Given the description of an element on the screen output the (x, y) to click on. 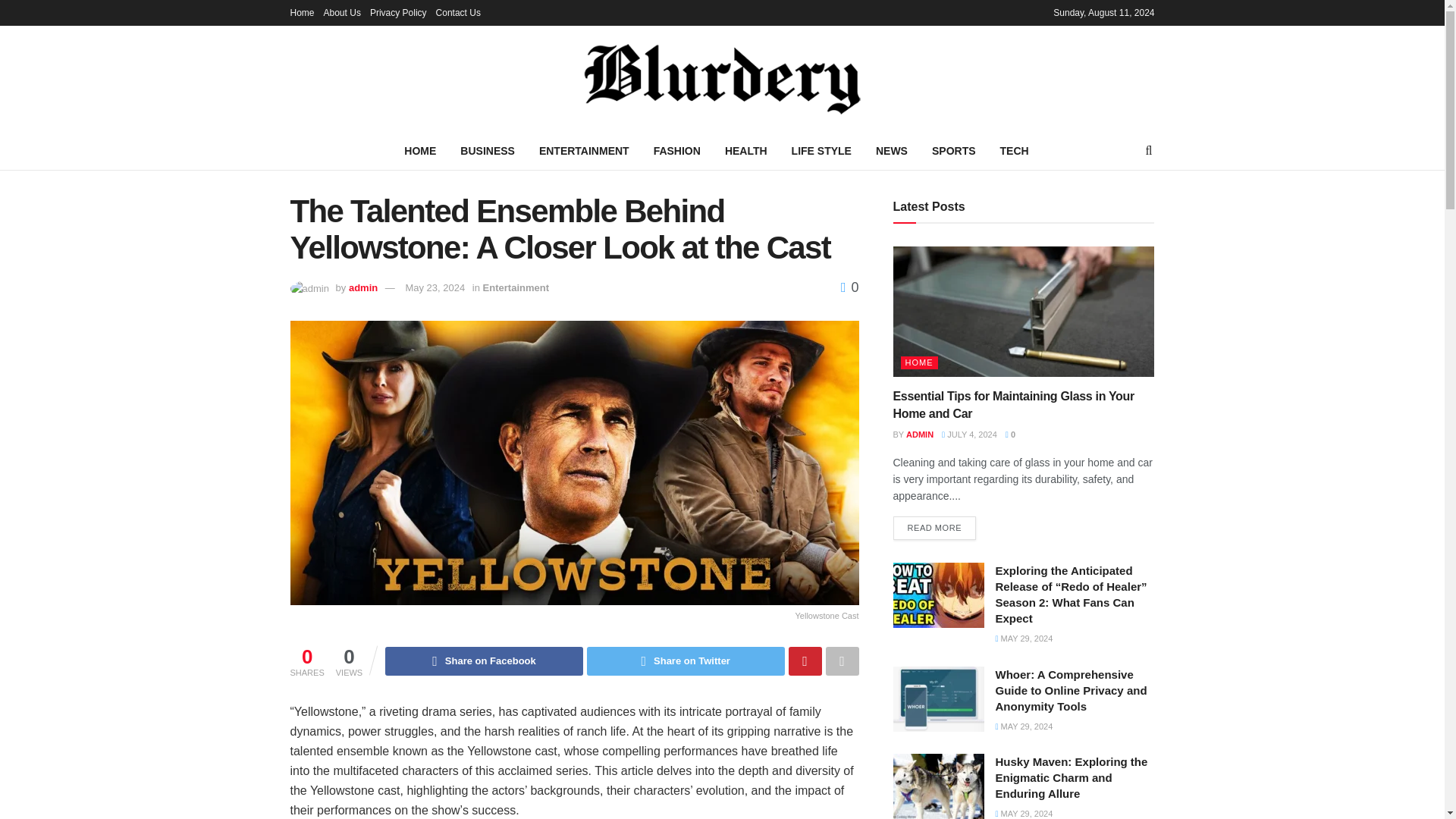
BUSINESS (487, 150)
Entertainment (515, 287)
Home (301, 12)
May 23, 2024 (434, 287)
0 (850, 287)
LIFE STYLE (820, 150)
Share on Twitter (685, 661)
Contact Us (457, 12)
NEWS (891, 150)
